Given the description of an element on the screen output the (x, y) to click on. 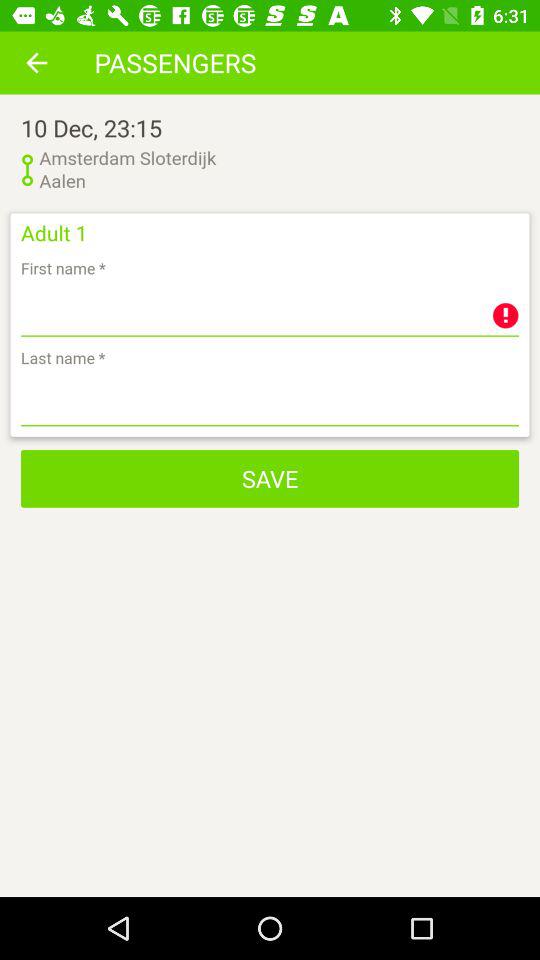
bar to enter last name (270, 399)
